Given the description of an element on the screen output the (x, y) to click on. 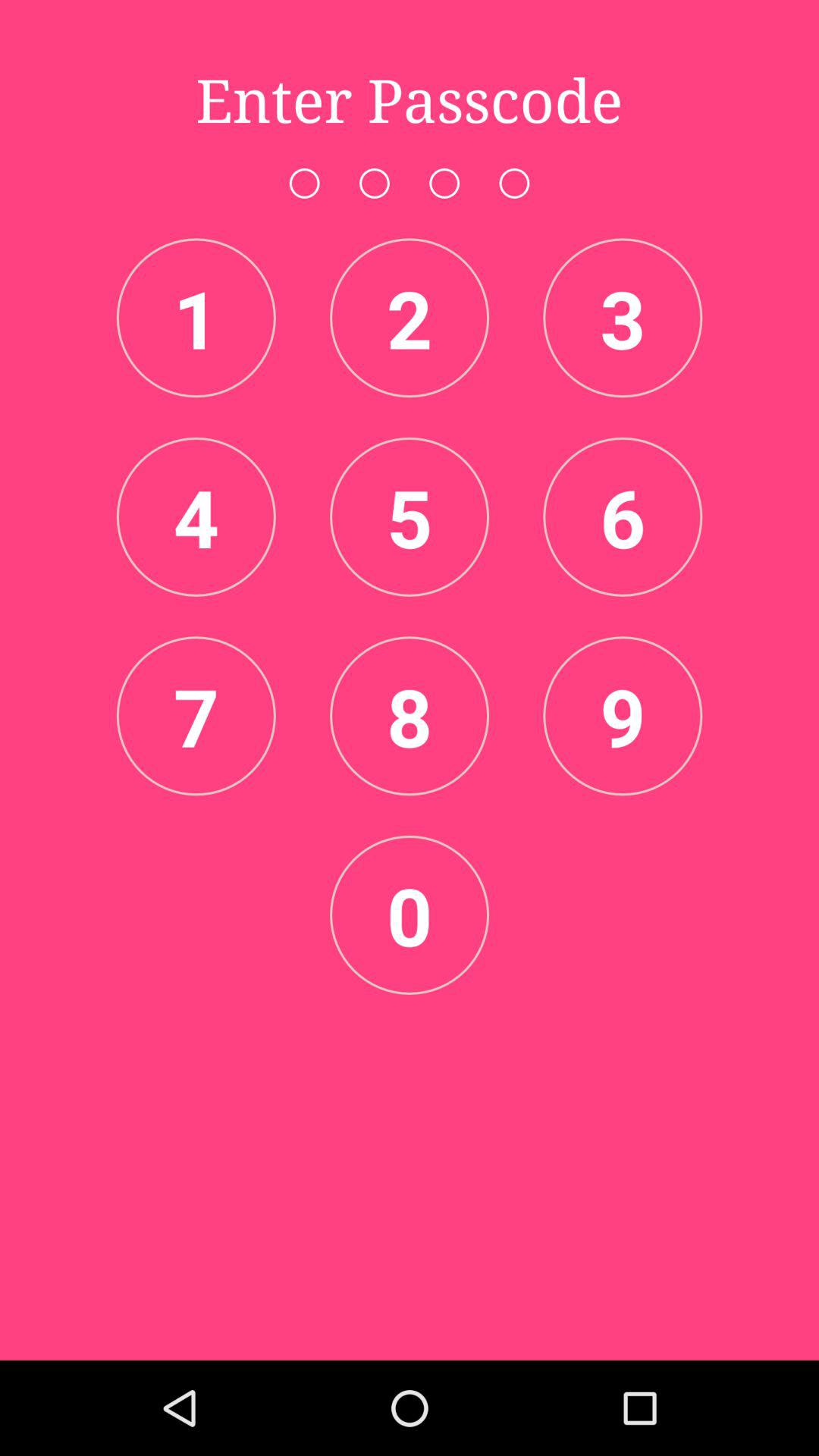
open the item to the left of the 6 icon (409, 516)
